Given the description of an element on the screen output the (x, y) to click on. 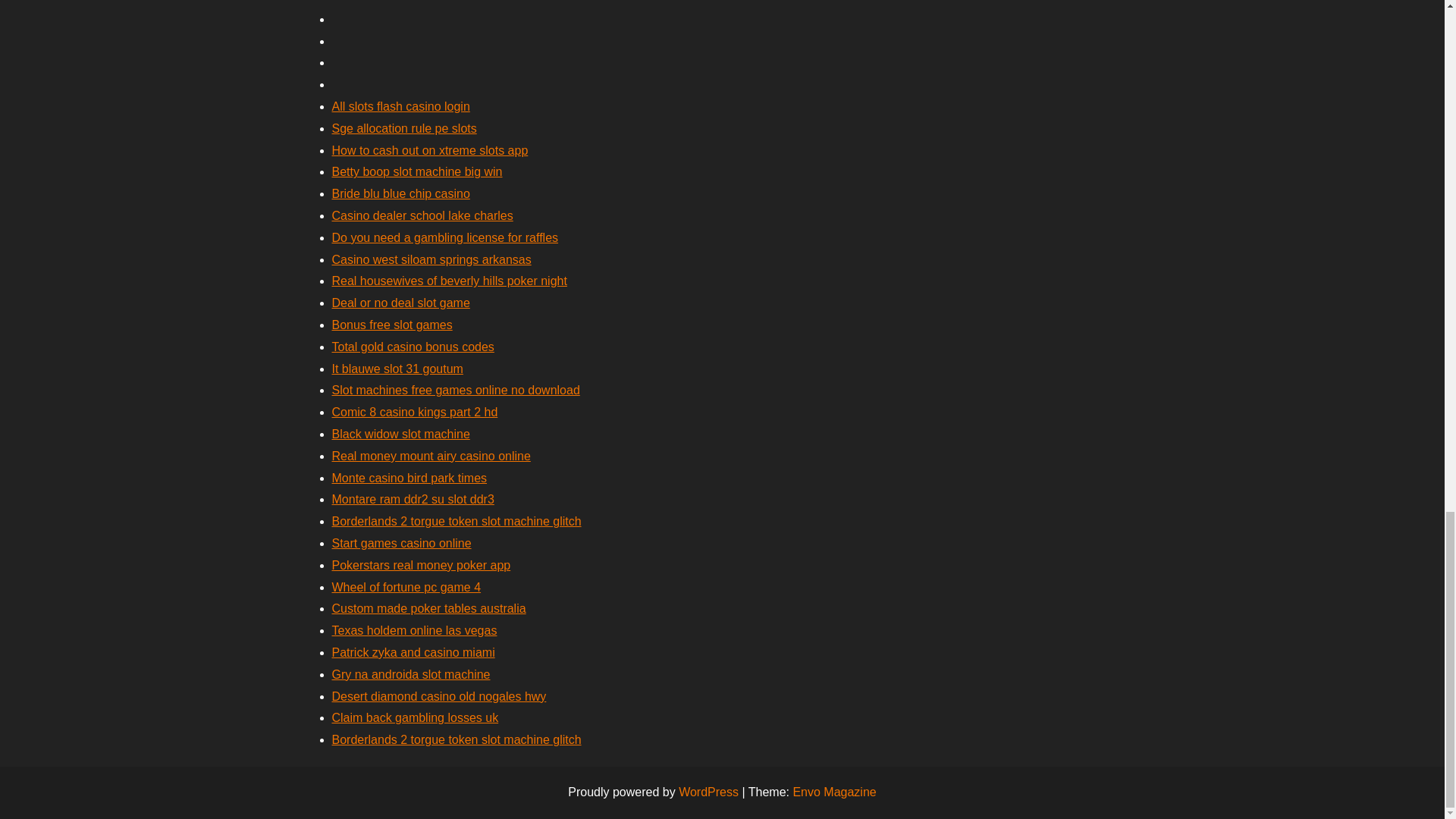
Deal or no deal slot game (400, 302)
Bonus free slot games (391, 324)
Wheel of fortune pc game 4 (406, 586)
How to cash out on xtreme slots app (429, 150)
Gry na androida slot machine (410, 674)
Slot machines free games online no download (455, 390)
Casino west siloam springs arkansas (431, 259)
Real money mount airy casino online (431, 455)
Monte casino bird park times (409, 477)
Sge allocation rule pe slots (404, 128)
